Given the description of an element on the screen output the (x, y) to click on. 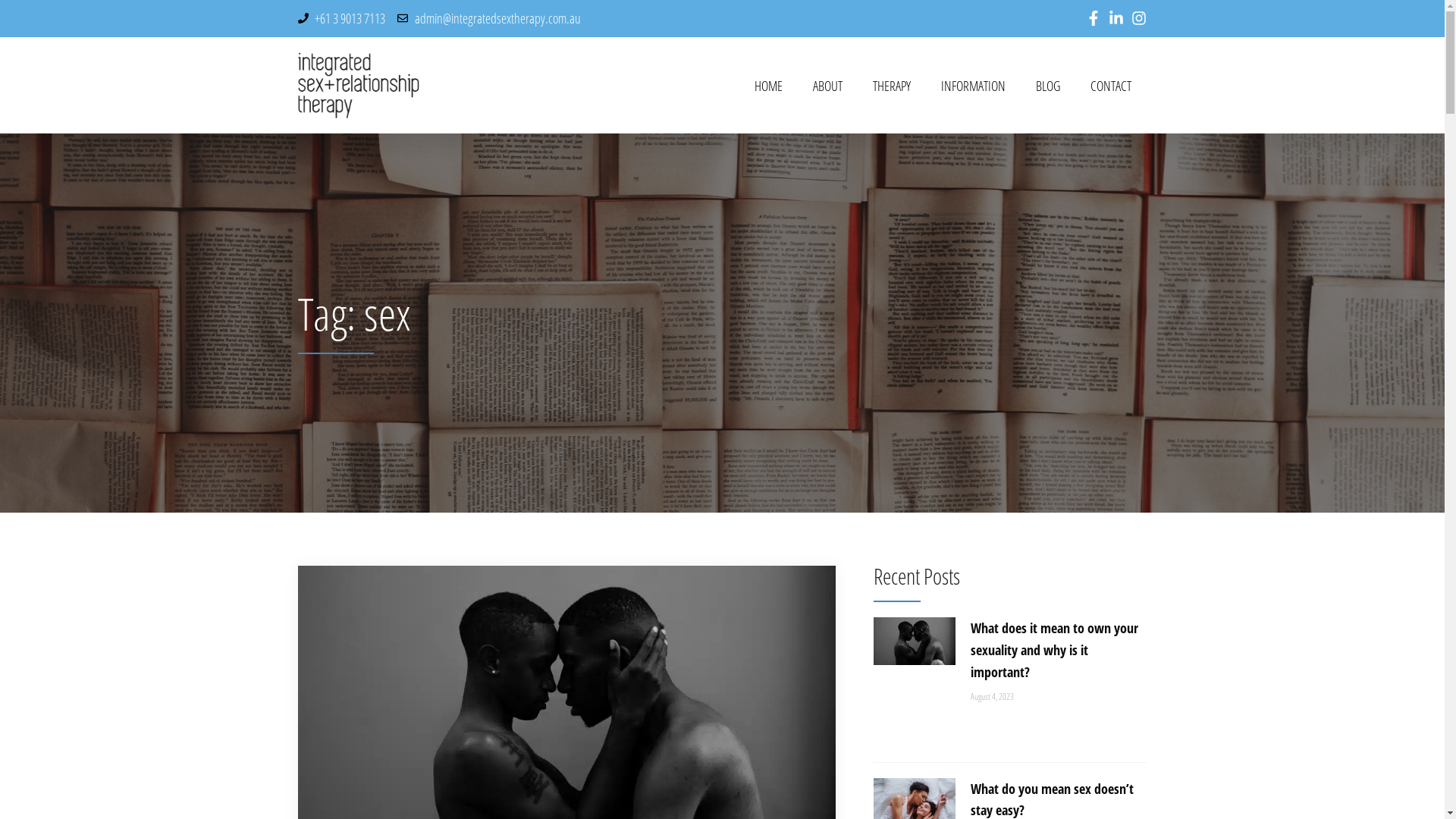
CONTACT Element type: text (1110, 85)
HOME Element type: text (768, 85)
BLOG Element type: text (1047, 85)
THERAPY Element type: text (891, 85)
INFORMATION Element type: text (972, 85)
ABOUT Element type: text (827, 85)
